Given the description of an element on the screen output the (x, y) to click on. 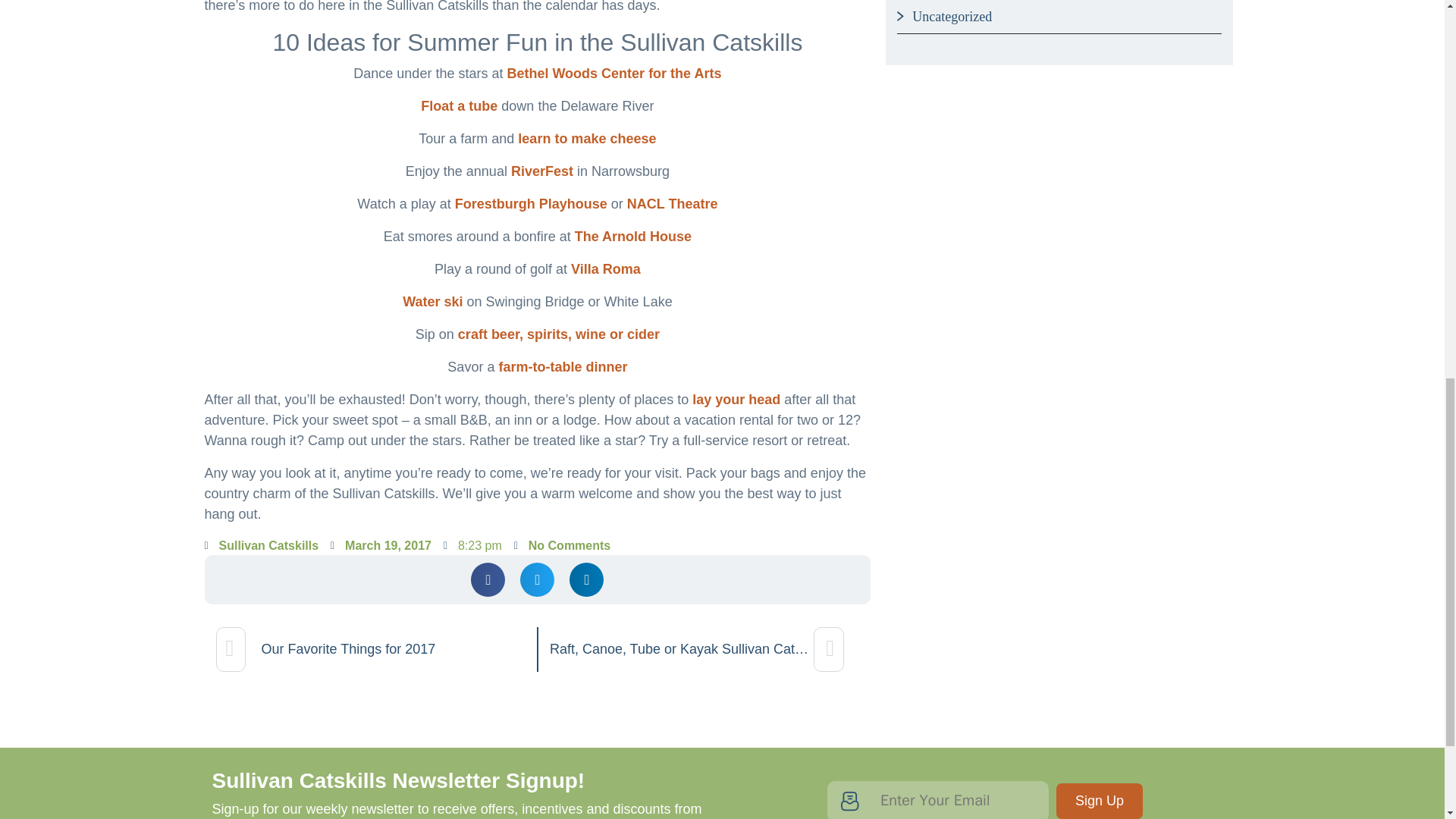
learn to make cheese (587, 138)
Our Favorite Things for 2017 (369, 649)
Float a tube (458, 105)
craft beer, spirits, wine or cider (558, 334)
lay your head (736, 399)
Raft, Canoe, Tube or Kayak Sullivan Catskill Waterways (704, 649)
Bethel Woods Center for the Arts (613, 73)
Uncategorized (943, 16)
Sullivan Catskills (261, 546)
Forestburgh Playhouse (530, 203)
